Given the description of an element on the screen output the (x, y) to click on. 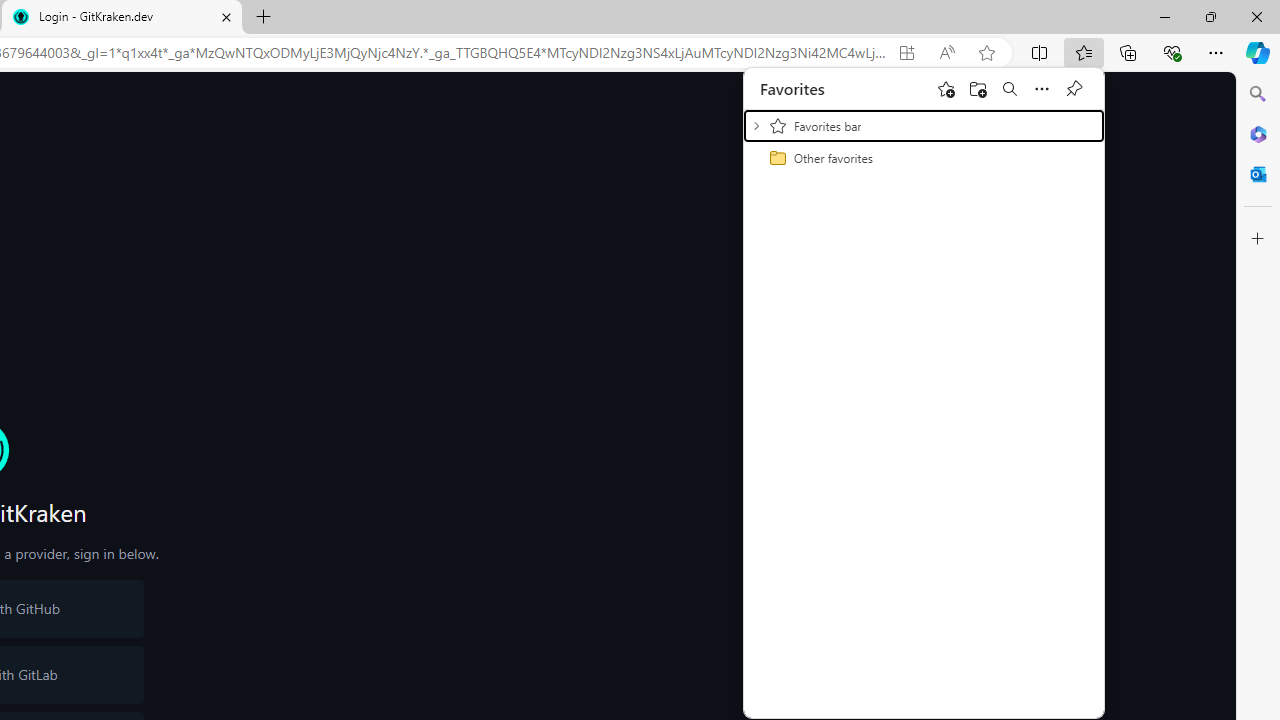
Add folder (977, 88)
